Given the description of an element on the screen output the (x, y) to click on. 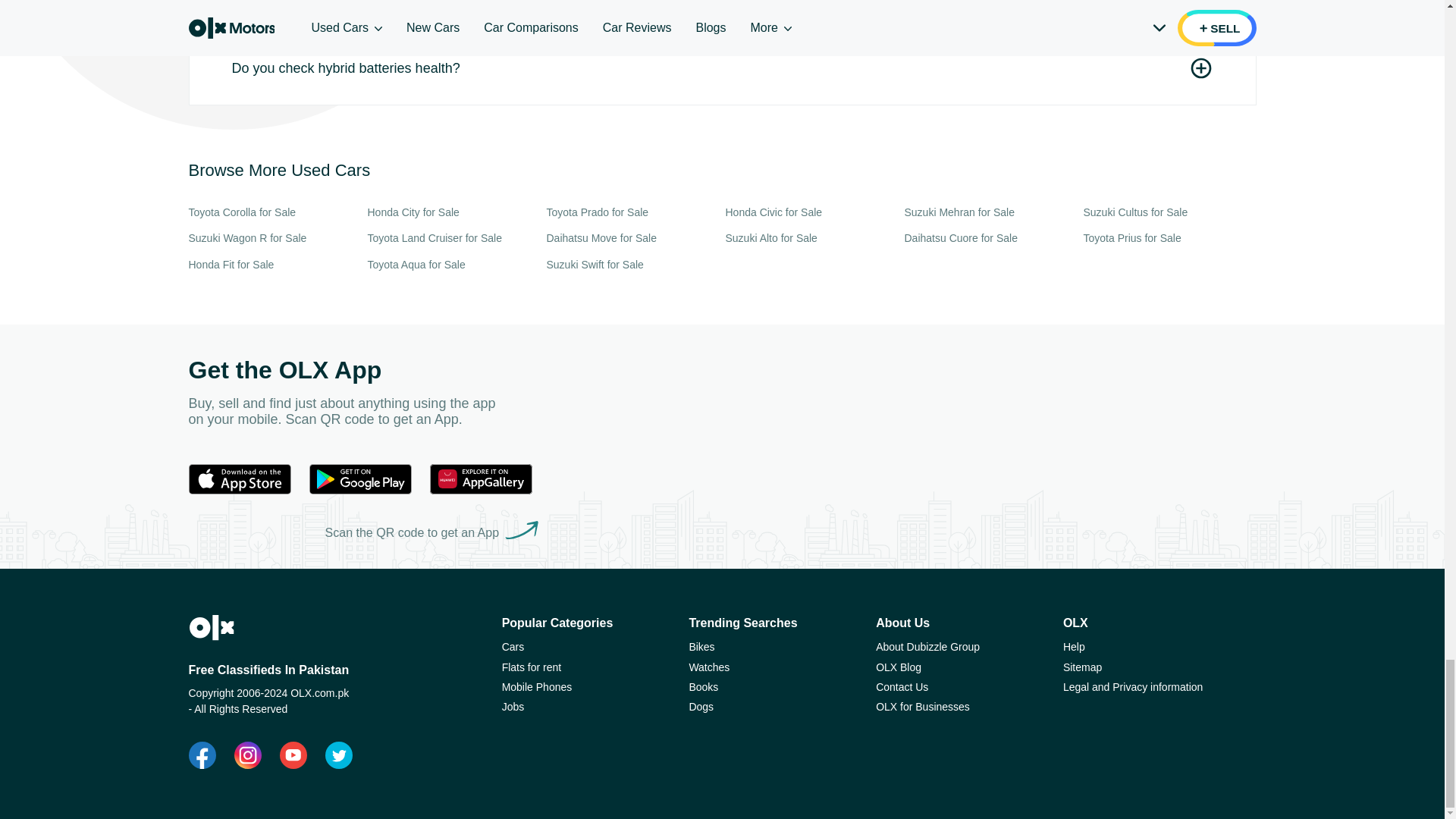
Toyota Prado for Sale (632, 212)
Suzuki Mehran for Sale (990, 212)
Toyota Corolla for Sale (274, 212)
Honda City for Sale (453, 212)
Suzuki Wagon R for Sale (274, 237)
Suzuki Cultus for Sale (1169, 212)
Honda Civic for Sale (811, 212)
